Given the description of an element on the screen output the (x, y) to click on. 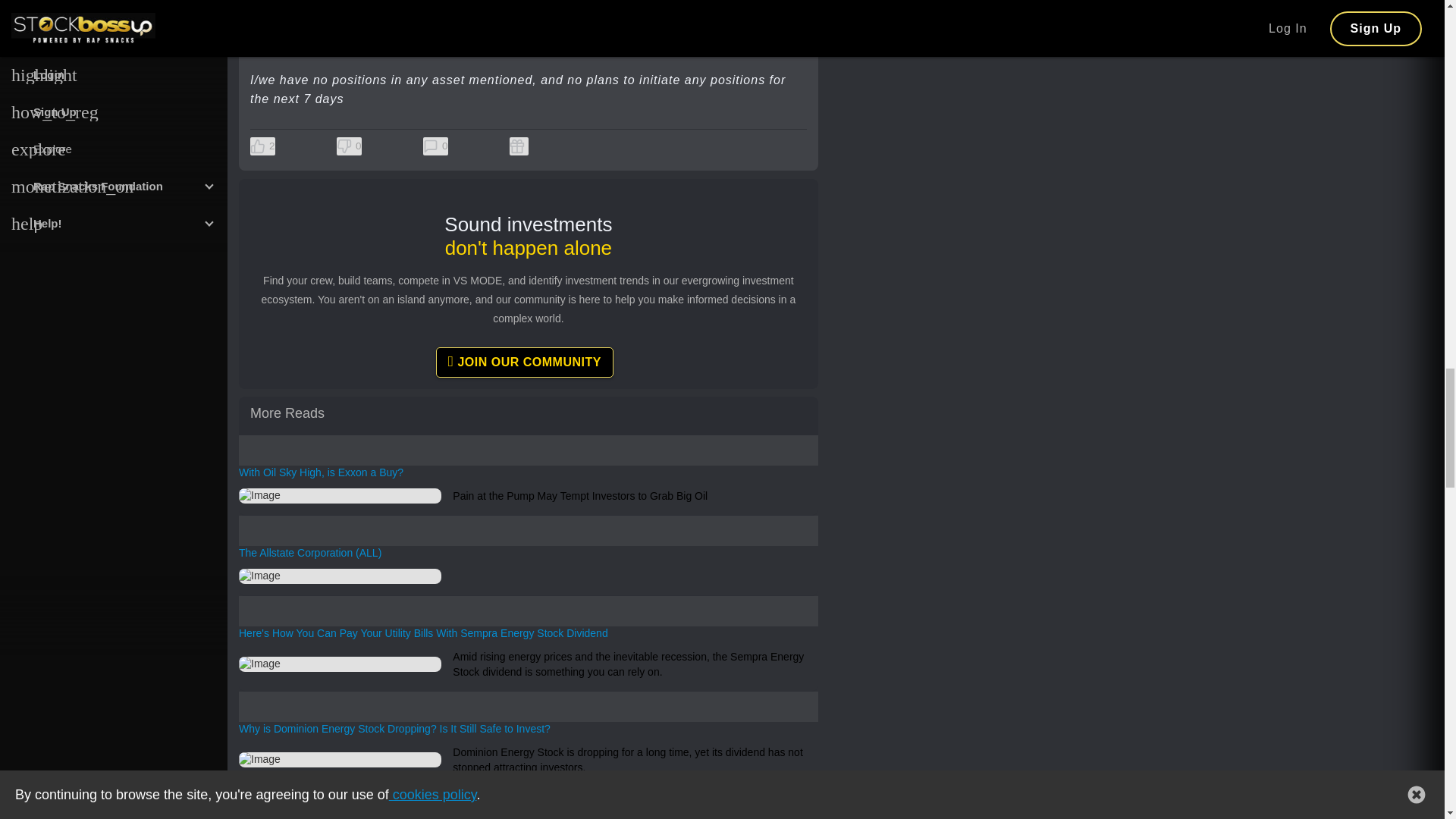
JOIN OUR COMMUNITY (523, 362)
Comment (435, 146)
0 (348, 146)
Tip (518, 146)
0 (435, 146)
With Oil Sky High, is Exxon a Buy? (528, 473)
Like (262, 146)
2 (262, 146)
Dislike (348, 146)
